Given the description of an element on the screen output the (x, y) to click on. 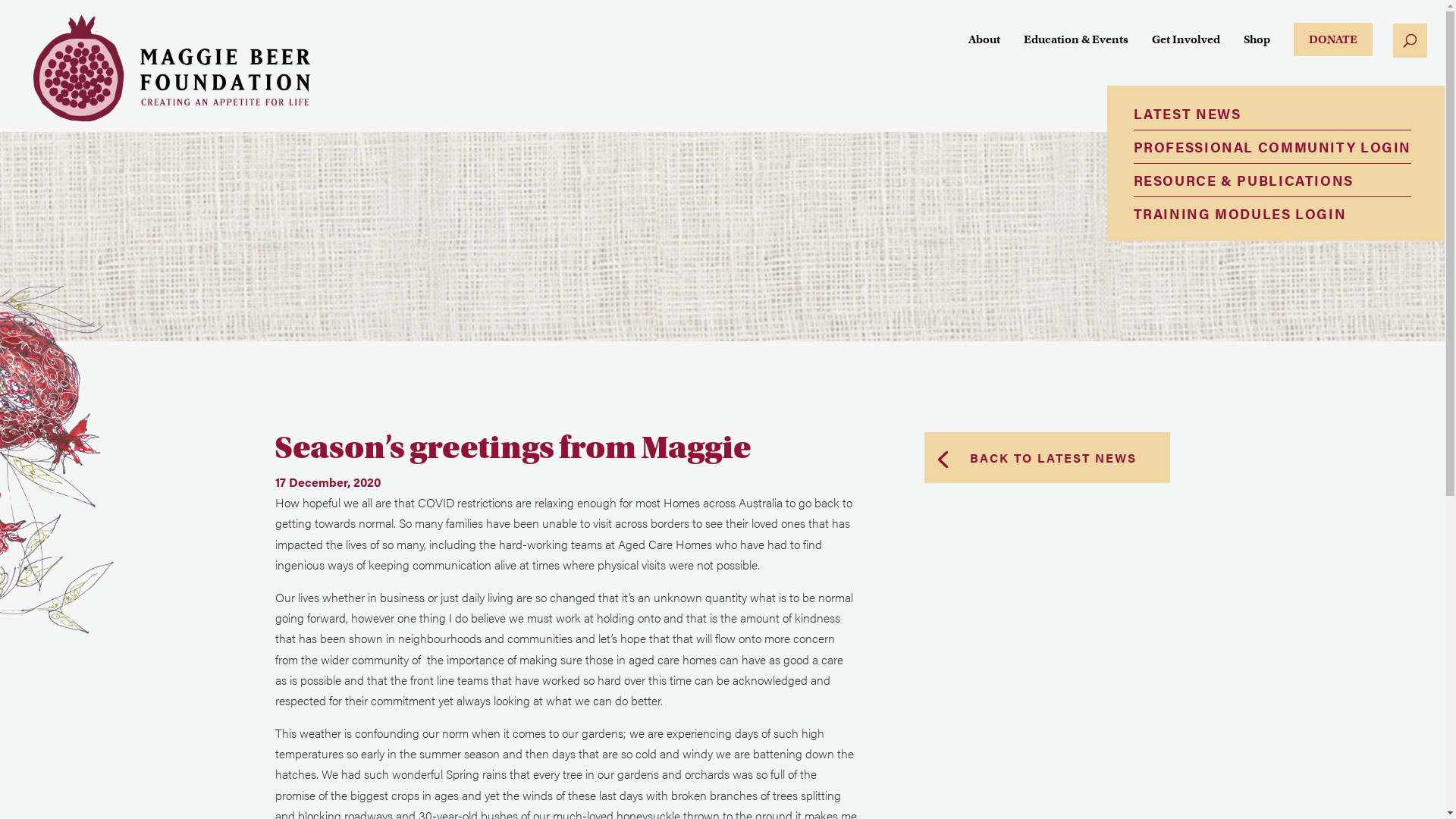
Education & Events Element type: text (1075, 53)
DONATE Element type: text (1332, 39)
About Element type: text (984, 53)
TRAINING MODULES LOGIN Element type: text (1272, 213)
PROFESSIONAL COMMUNITY LOGIN Element type: text (1272, 146)
Get Involved Element type: text (1185, 53)
Shop Element type: text (1256, 53)
RESOURCE & PUBLICATIONS Element type: text (1272, 179)
BACK TO LATEST NEWS Element type: text (1046, 457)
LATEST NEWS Element type: text (1272, 113)
